Given the description of an element on the screen output the (x, y) to click on. 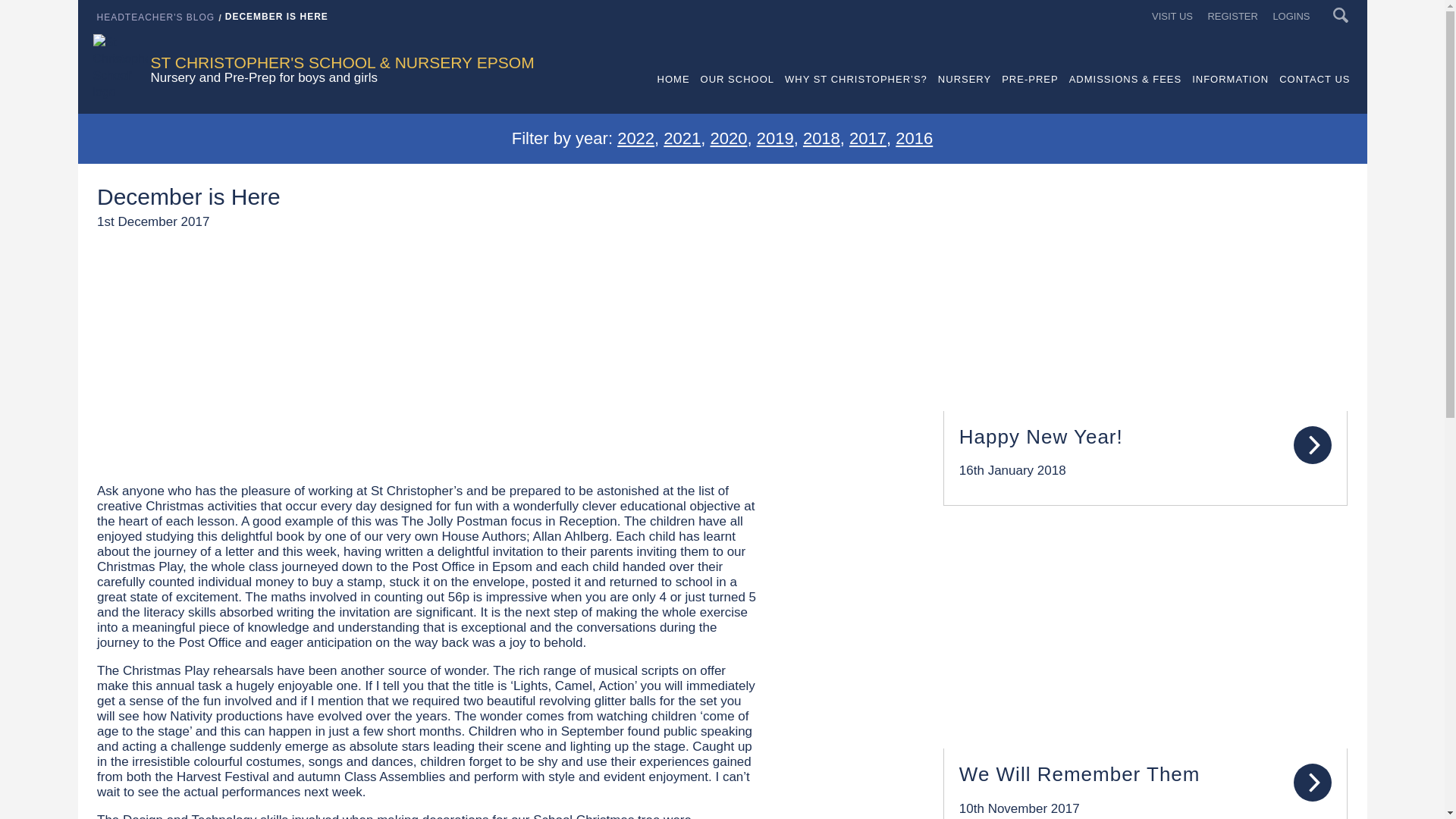
Search (1340, 14)
INFORMATION (1230, 93)
HOME (673, 93)
December is Here (277, 16)
PRE-PREP (1028, 93)
NURSERY (964, 93)
OUR SCHOOL (736, 93)
Headteacher's Blog (156, 17)
